Given the description of an element on the screen output the (x, y) to click on. 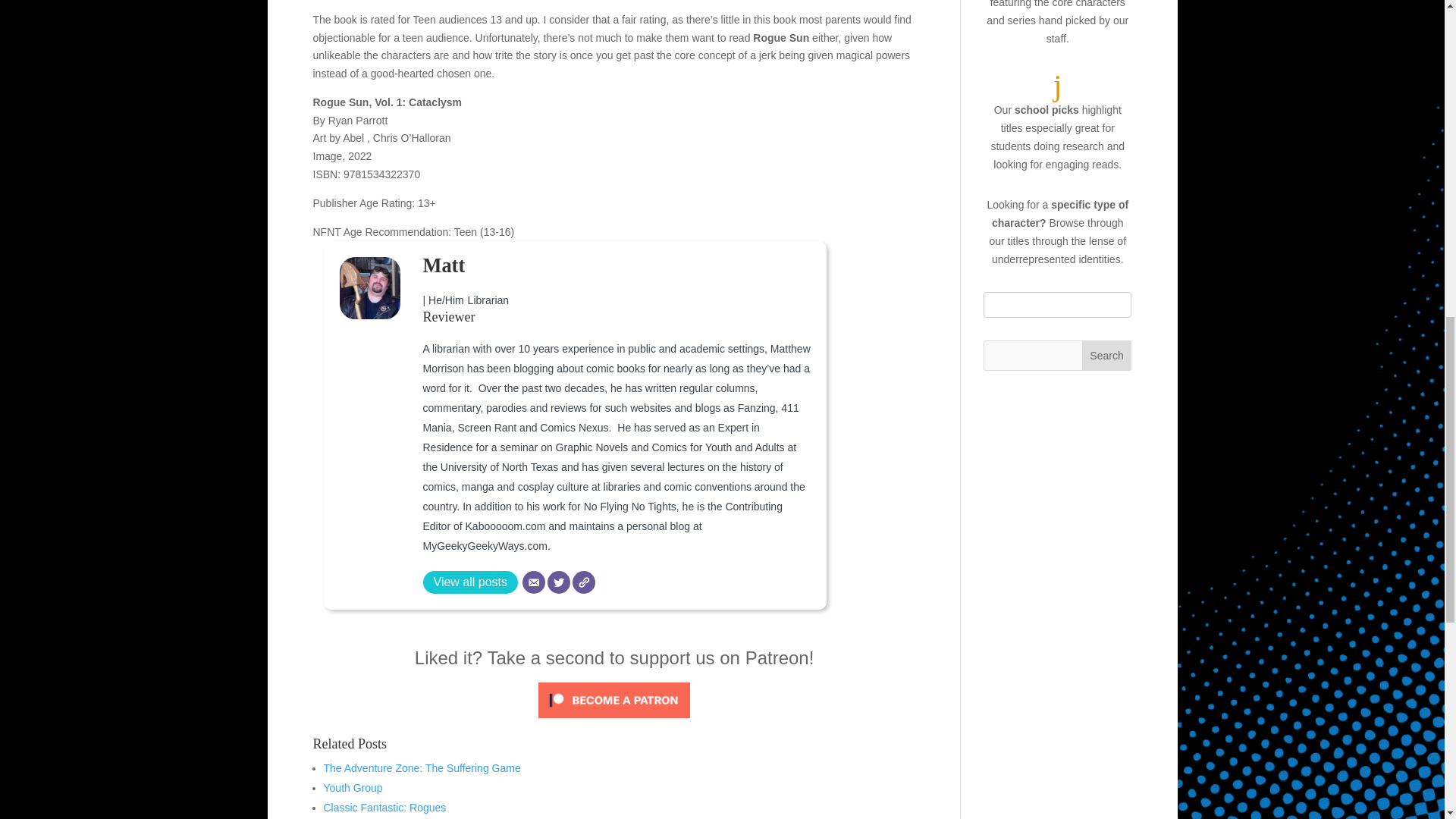
Matt (444, 264)
View all posts (470, 581)
